Given the description of an element on the screen output the (x, y) to click on. 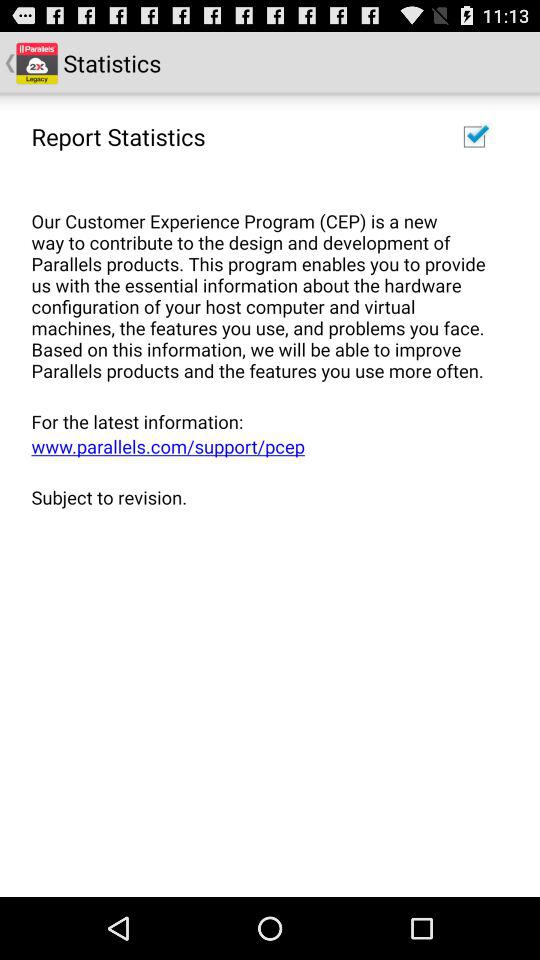
flip until the our customer experience item (263, 284)
